Given the description of an element on the screen output the (x, y) to click on. 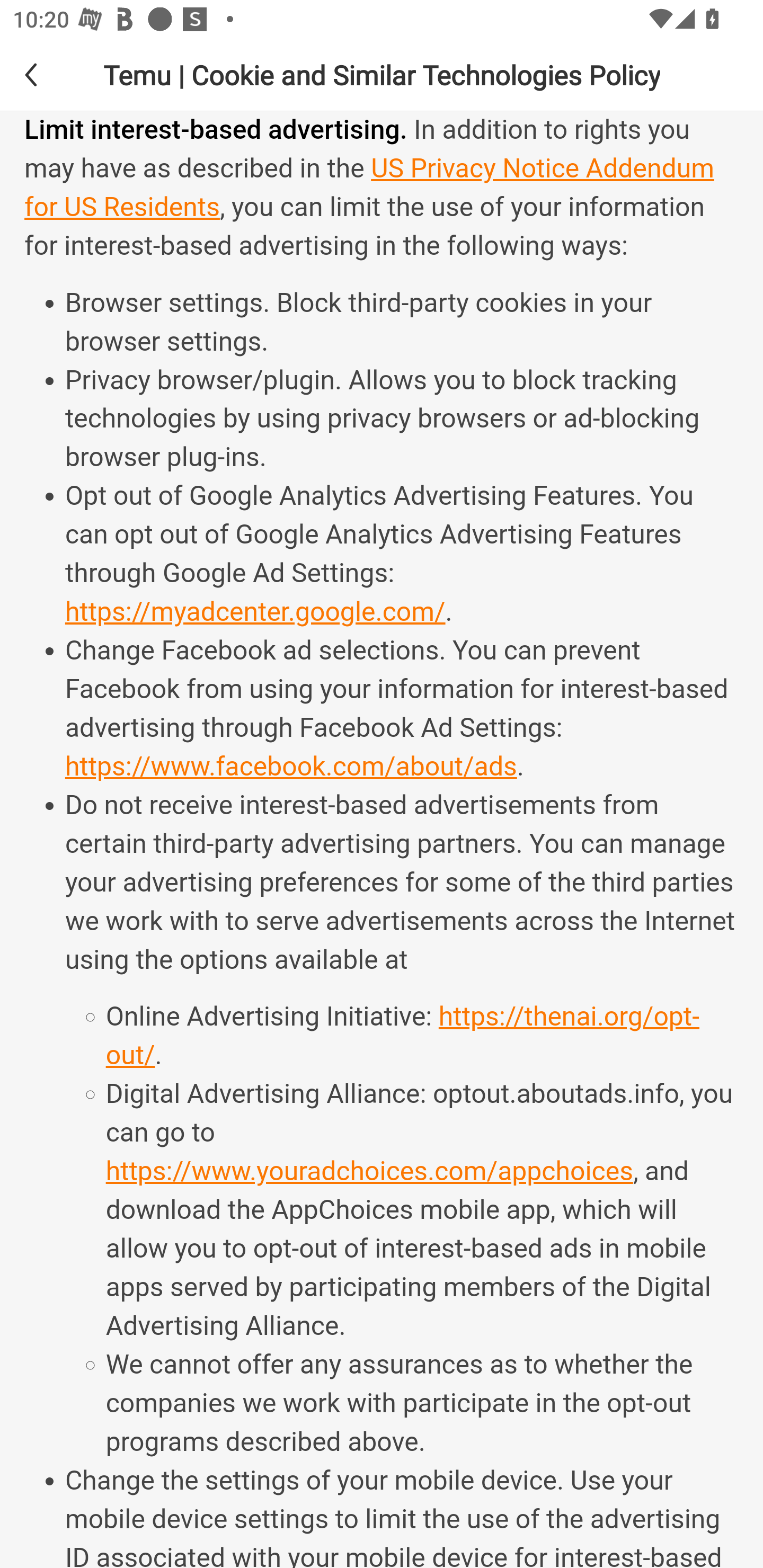
Back back (46, 74)
US Privacy Notice Addendum for US Residents (369, 188)
https://myadcenter.google.com/ (254, 612)
https://www.facebook.com/about/ads (290, 767)
https://thenai.org/opt-out/ (402, 1036)
https://www.youradchoices.com/appchoices (369, 1172)
